Given the description of an element on the screen output the (x, y) to click on. 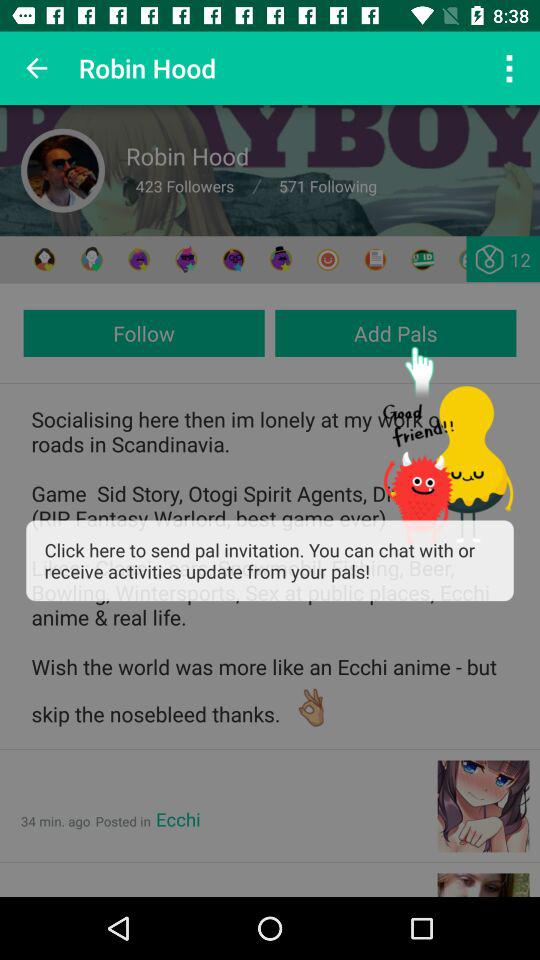
my profile icon (138, 259)
